Given the description of an element on the screen output the (x, y) to click on. 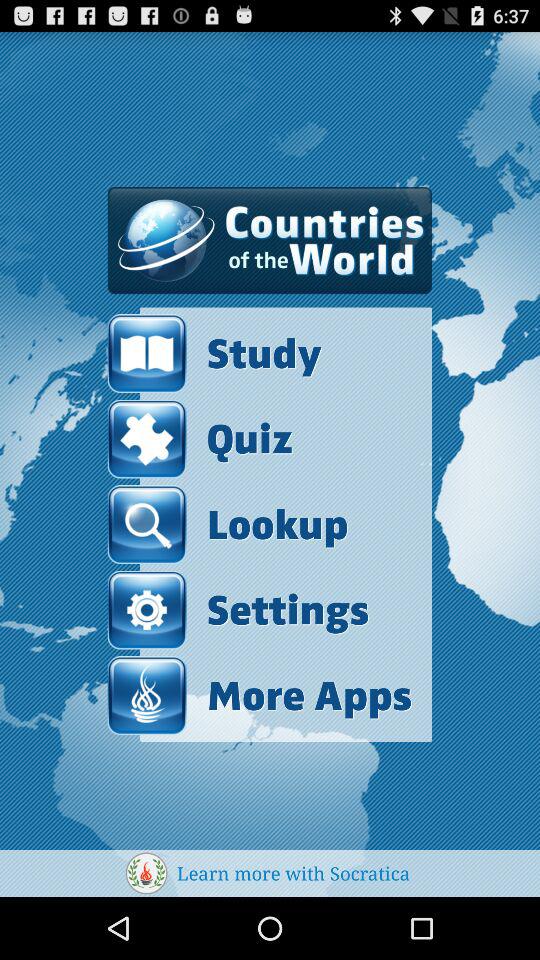
click item above the quiz item (259, 353)
